Given the description of an element on the screen output the (x, y) to click on. 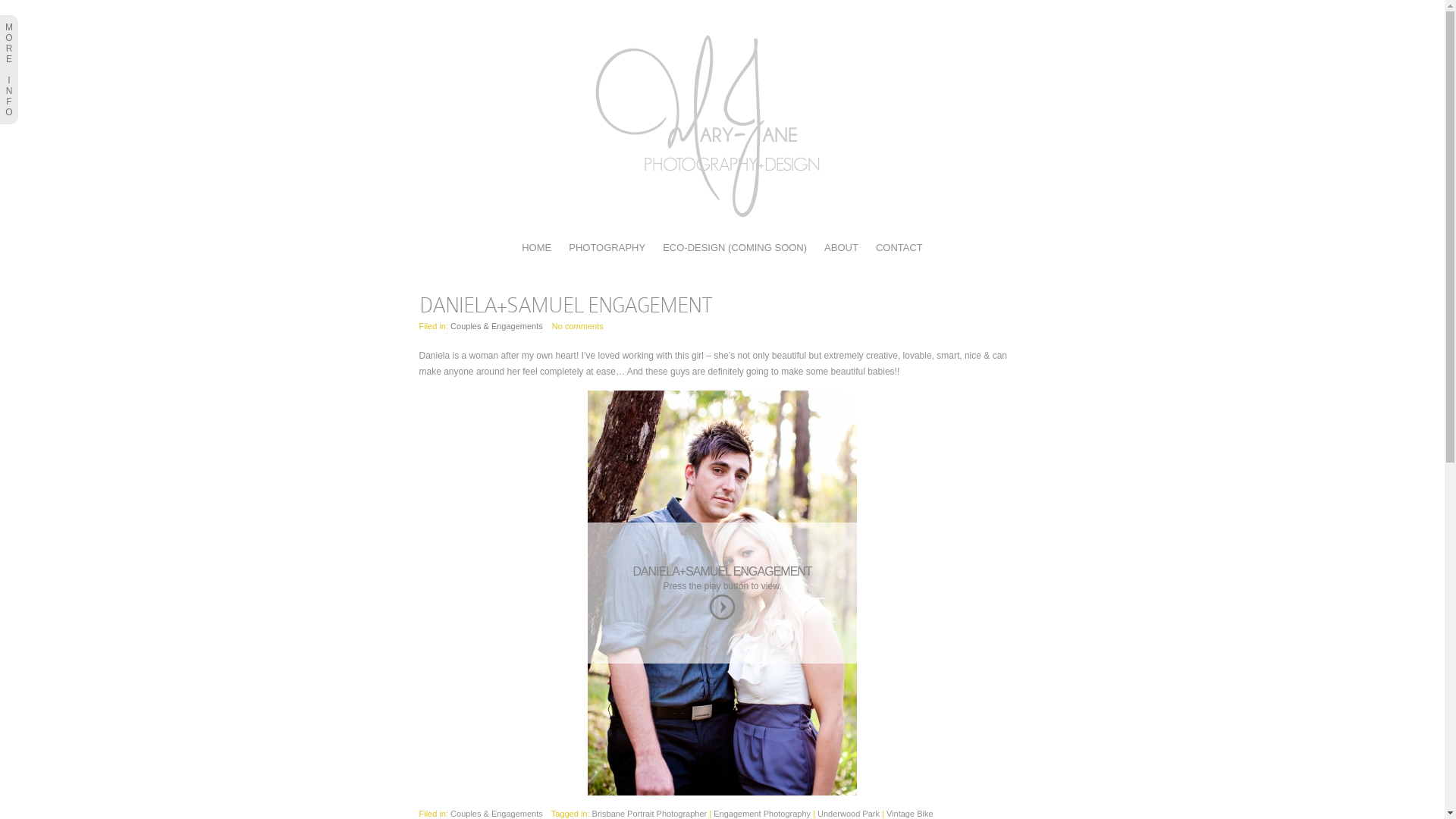
ECO-DESIGN (COMING SOON) Element type: text (734, 247)
Couples & Engagements Element type: text (496, 325)
CONTACT Element type: text (898, 247)
Cancel Reply Element type: text (36, 7)
Underwood Park Element type: text (848, 813)
Vintage Bike Element type: text (909, 813)
Brisbane Portrait Photographer Element type: text (649, 813)
ABOUT Element type: text (841, 247)
Couples & Engagements Element type: text (496, 813)
HOME Element type: text (536, 247)
Engagement Photography Element type: text (761, 813)
PHOTOGRAPHY Element type: text (606, 247)
